Given the description of an element on the screen output the (x, y) to click on. 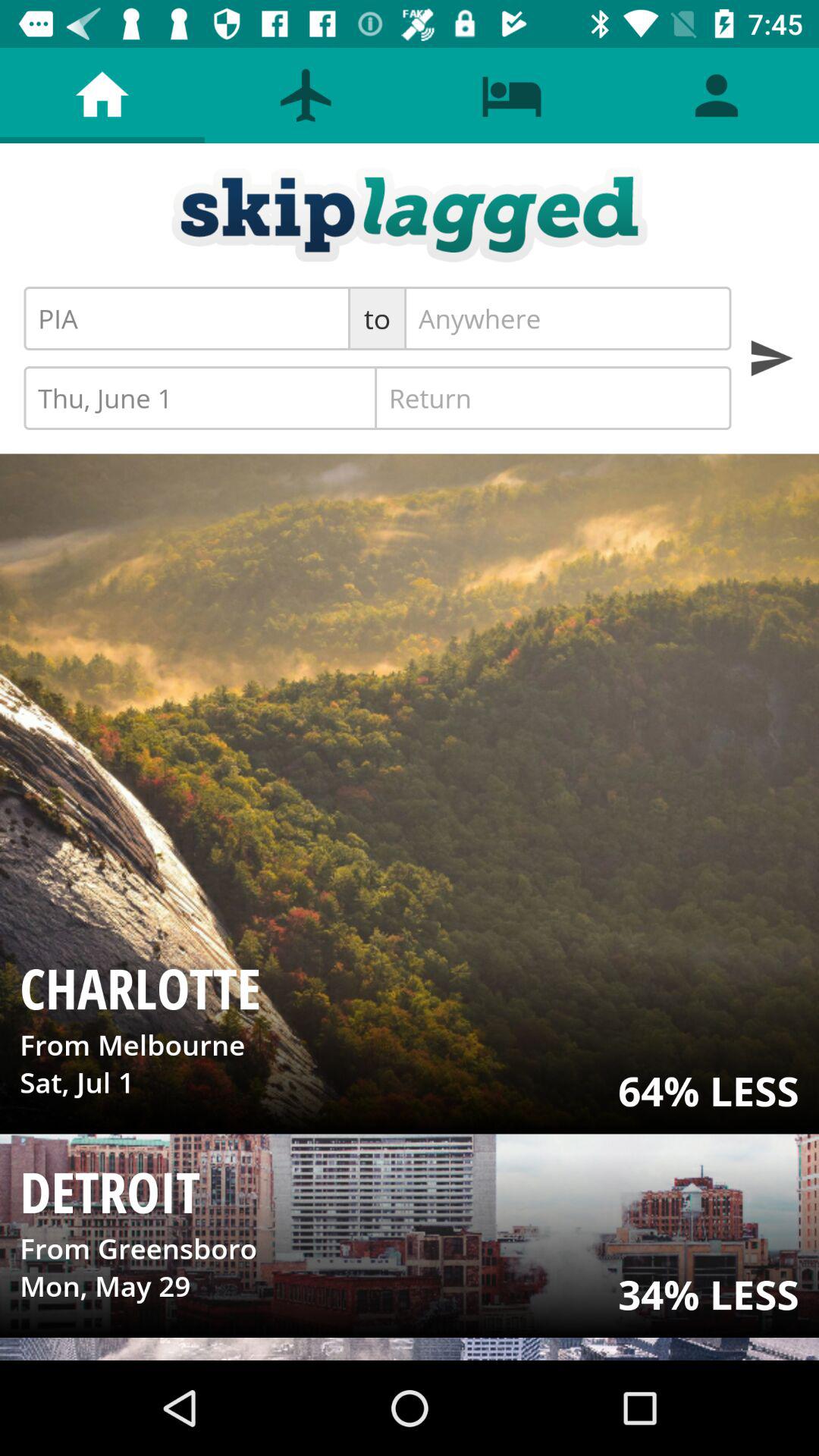
select the icon to the right of the pia item (377, 318)
